Given the description of an element on the screen output the (x, y) to click on. 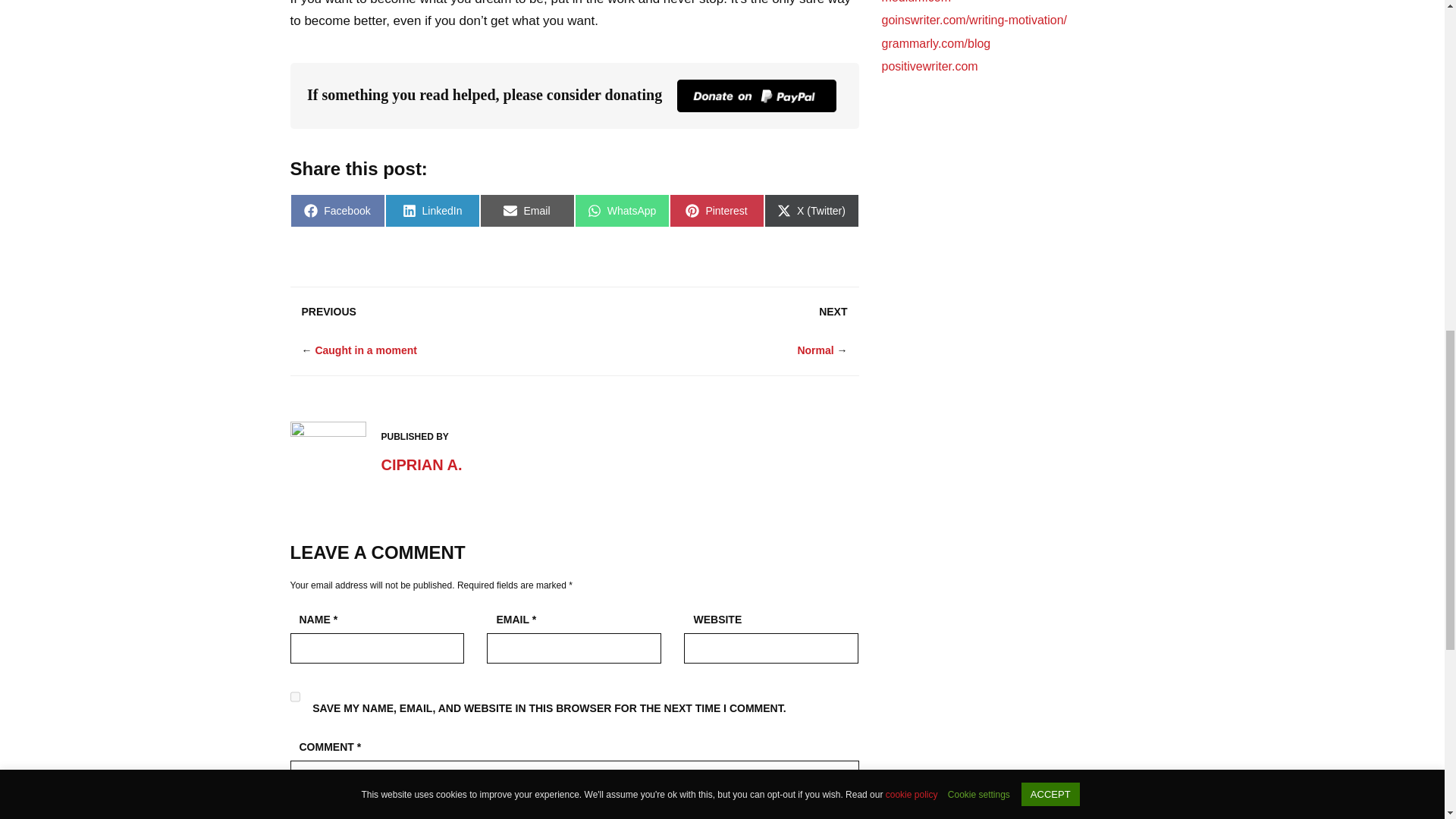
Email (526, 210)
WhatsApp (622, 210)
Facebook (336, 210)
Caught in a moment (365, 349)
yes (294, 696)
CIPRIAN A. (420, 464)
LinkedIn (432, 210)
Pinterest (715, 210)
Normal (814, 349)
medium.com (915, 2)
